Given the description of an element on the screen output the (x, y) to click on. 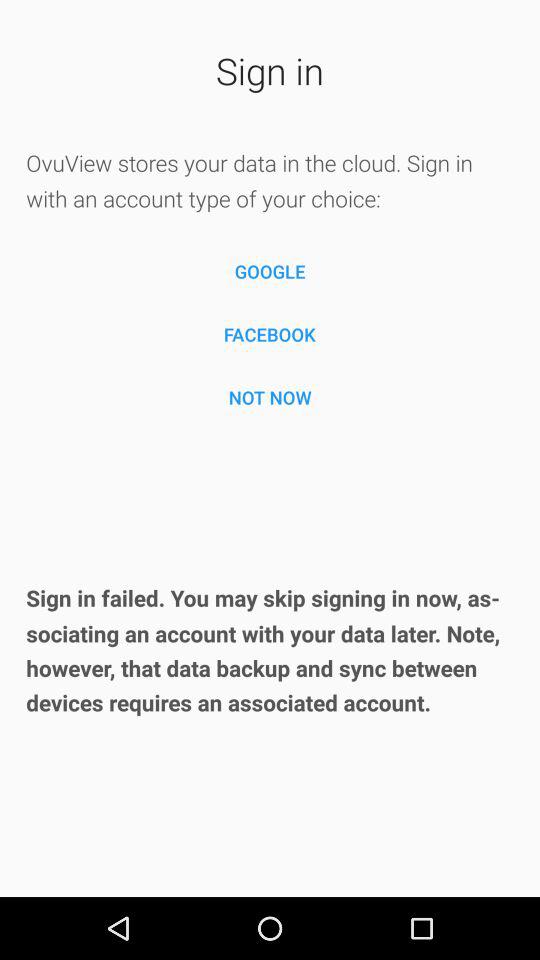
press the google item (269, 271)
